Given the description of an element on the screen output the (x, y) to click on. 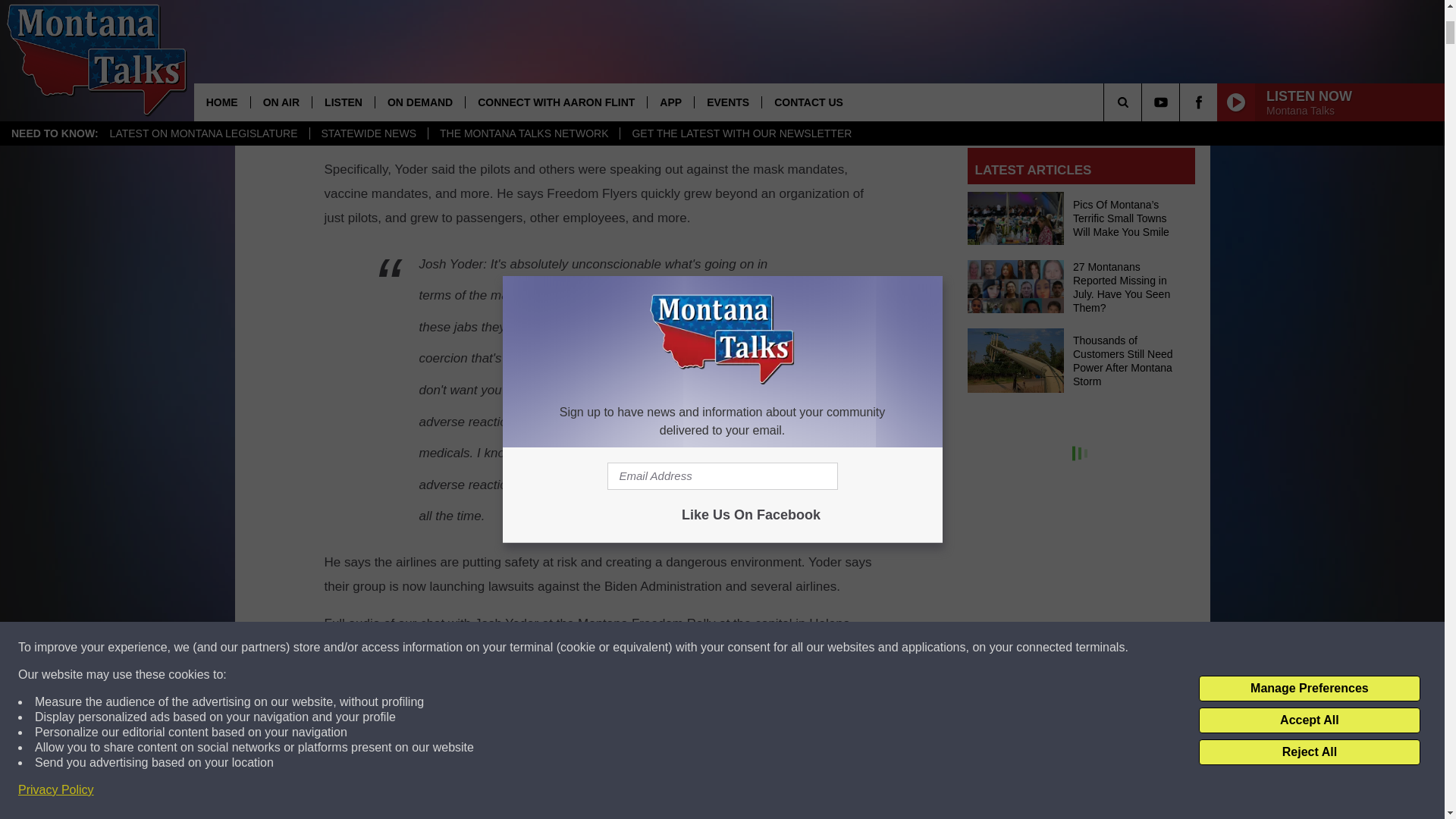
Email Address (1080, 103)
